Given the description of an element on the screen output the (x, y) to click on. 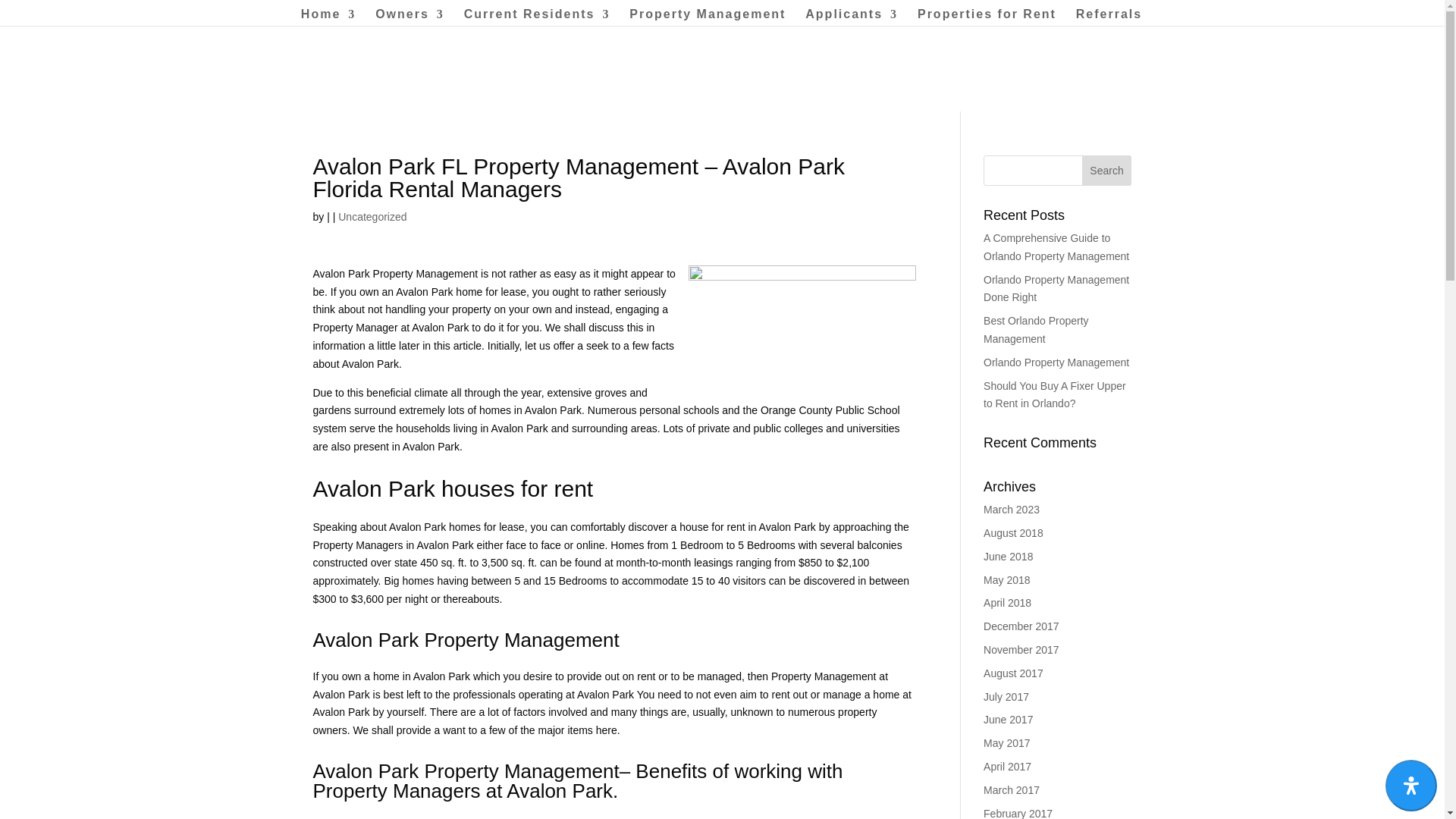
Home (328, 17)
Search (1106, 170)
Property Management (707, 17)
Owners (409, 17)
Applicants (851, 17)
Properties for Rent (987, 17)
Referrals (1108, 17)
Current Residents (537, 17)
